Given the description of an element on the screen output the (x, y) to click on. 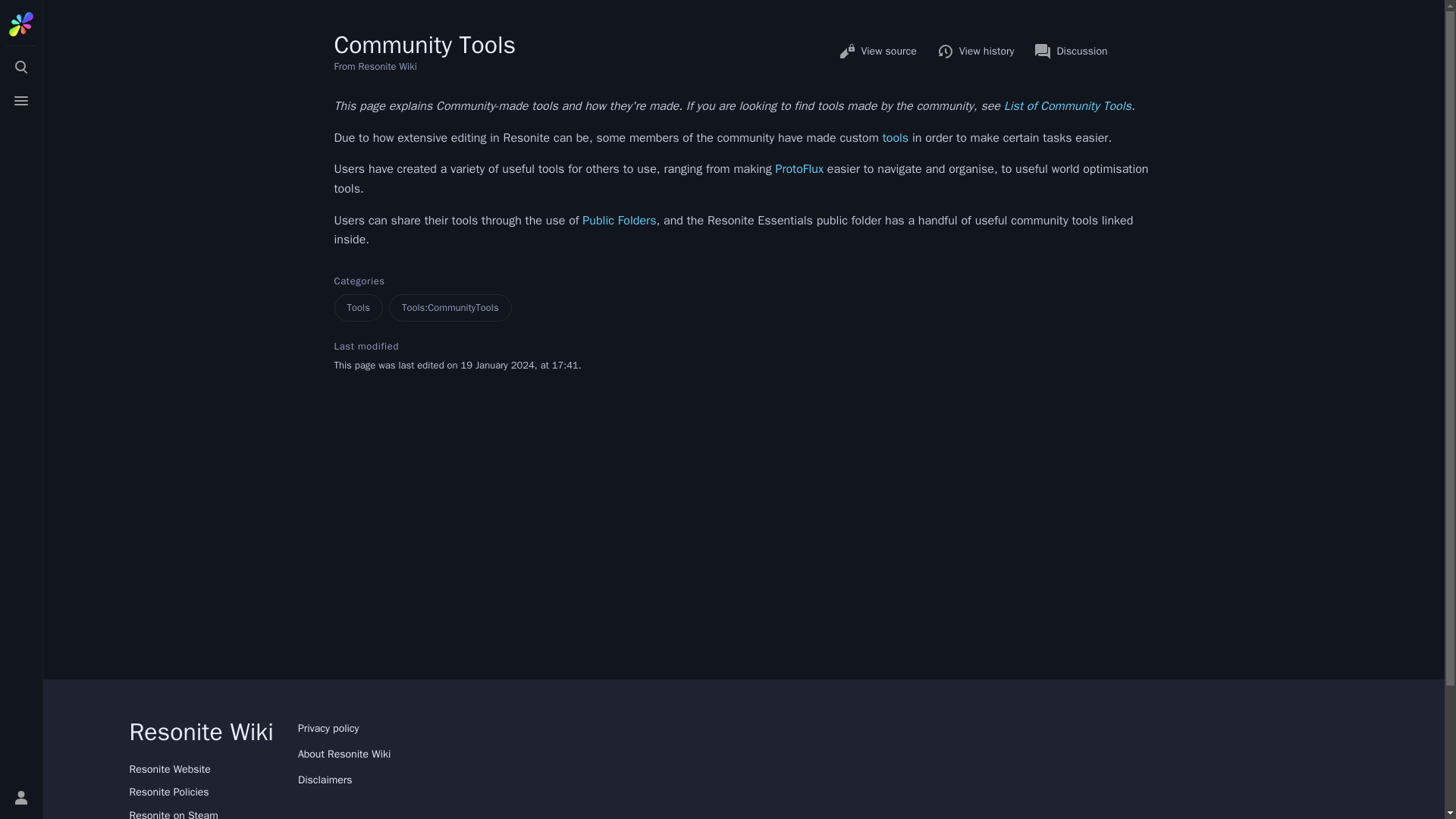
View source (876, 51)
Public Folders (619, 220)
tools (895, 137)
View history (975, 51)
Toggle personal menu (20, 797)
Toggle menu (20, 100)
Discussion (1071, 51)
Visit the main page (20, 24)
ProtoFlux (799, 168)
List of Community Tools (1067, 105)
